Given the description of an element on the screen output the (x, y) to click on. 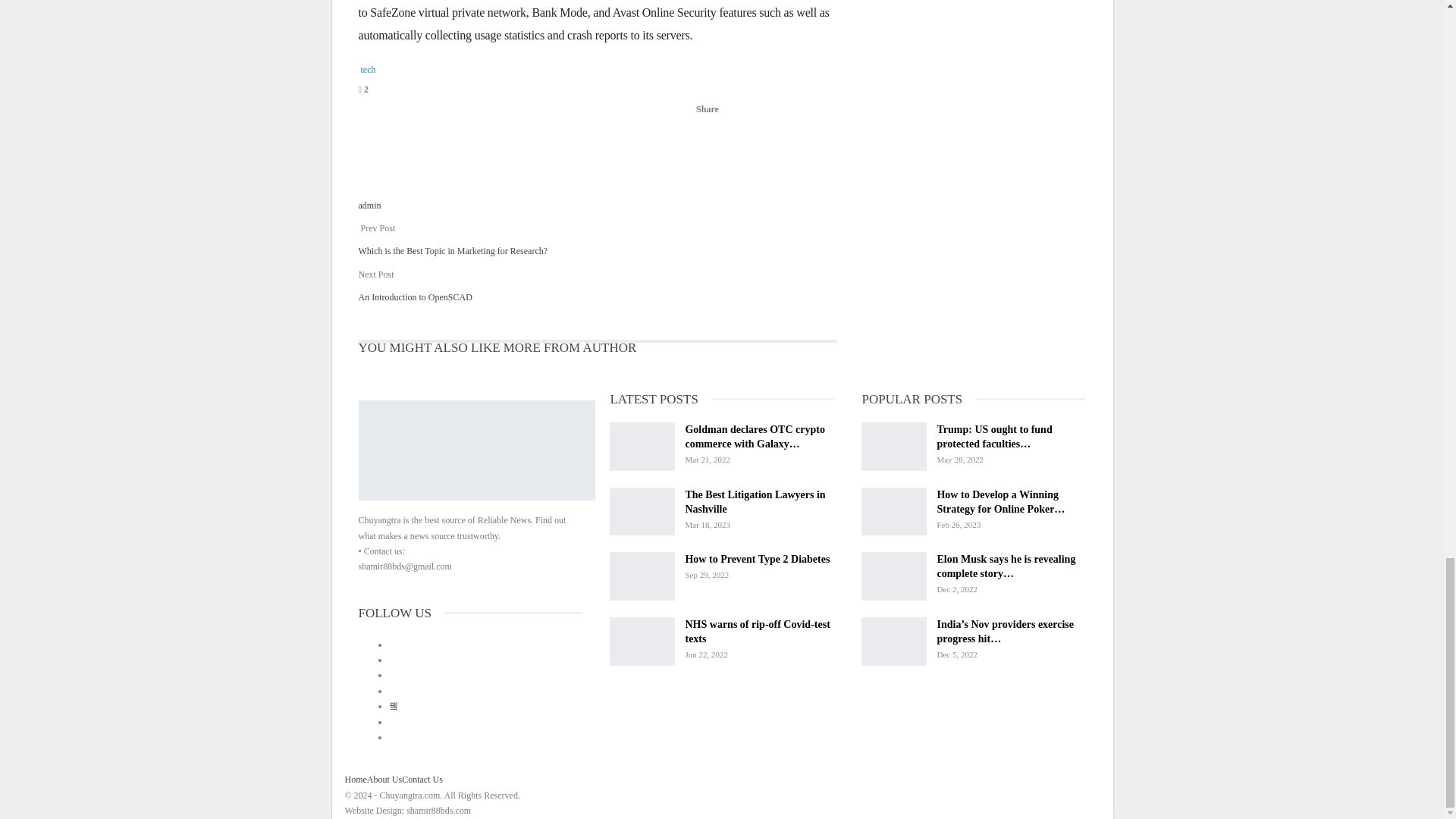
Browse Author Articles (388, 165)
